Given the description of an element on the screen output the (x, y) to click on. 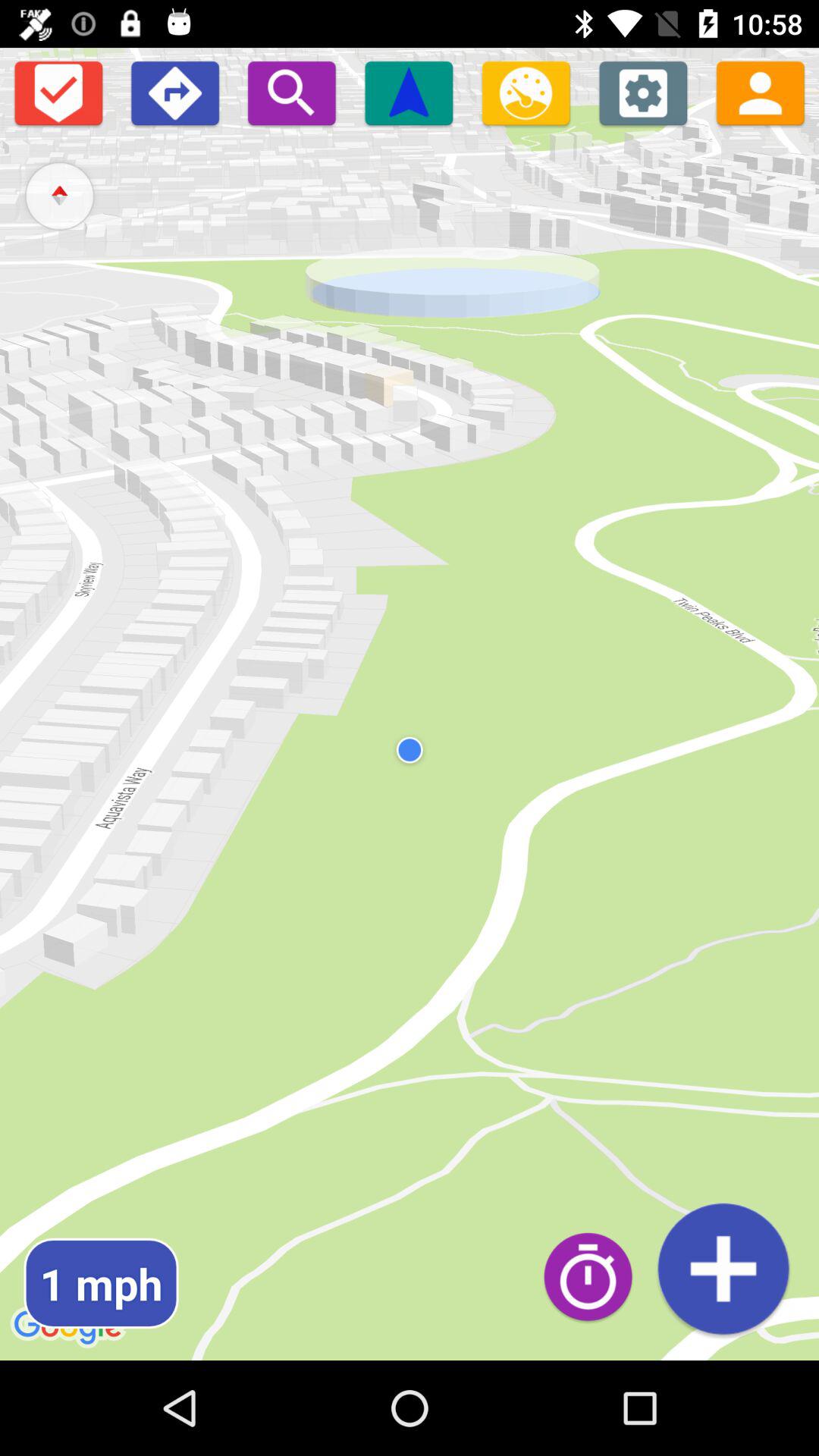
add place (723, 1268)
